Given the description of an element on the screen output the (x, y) to click on. 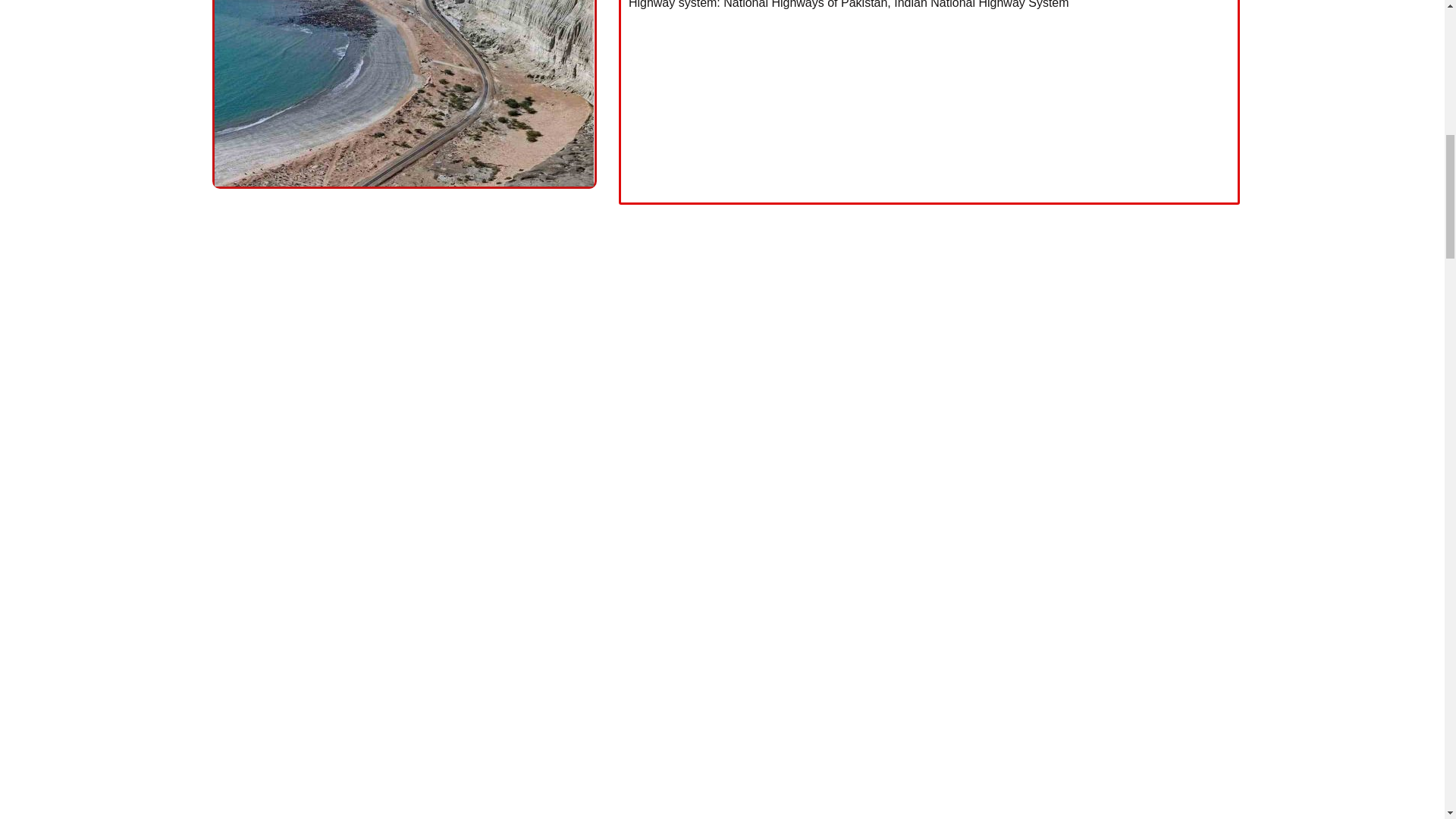
Mekran Coastal highway (929, 108)
costalhighwaymekran (403, 93)
